Given the description of an element on the screen output the (x, y) to click on. 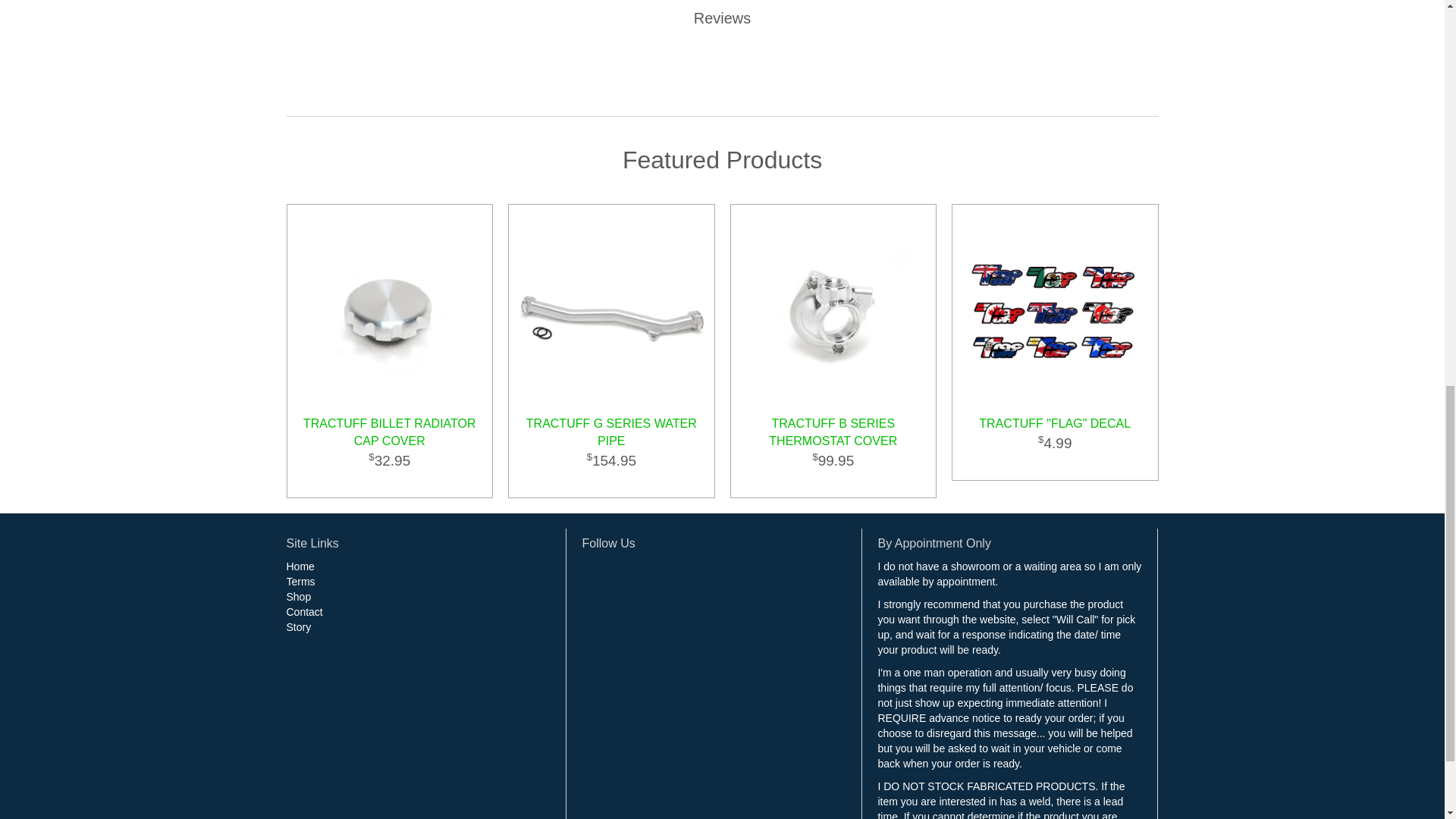
Terms (300, 581)
Home (300, 566)
